Given the description of an element on the screen output the (x, y) to click on. 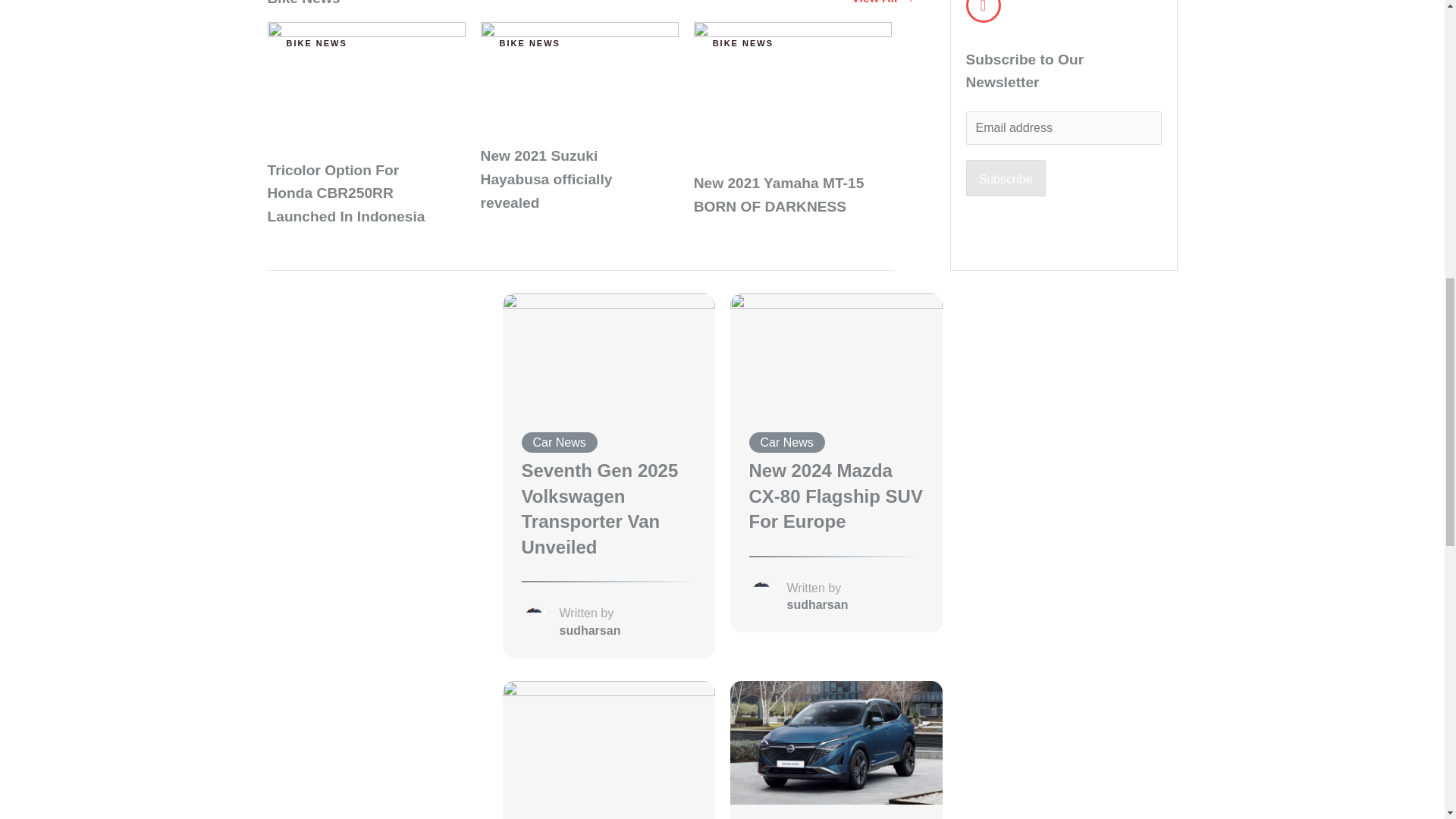
Tricolor Option For Honda CBR250RR Launched In Indonesia (365, 82)
New 2021 Yamaha MT-15 BORN OF DARKNESS (792, 89)
New 2021 Suzuki Hayabusa officially revealed (579, 75)
